Given the description of an element on the screen output the (x, y) to click on. 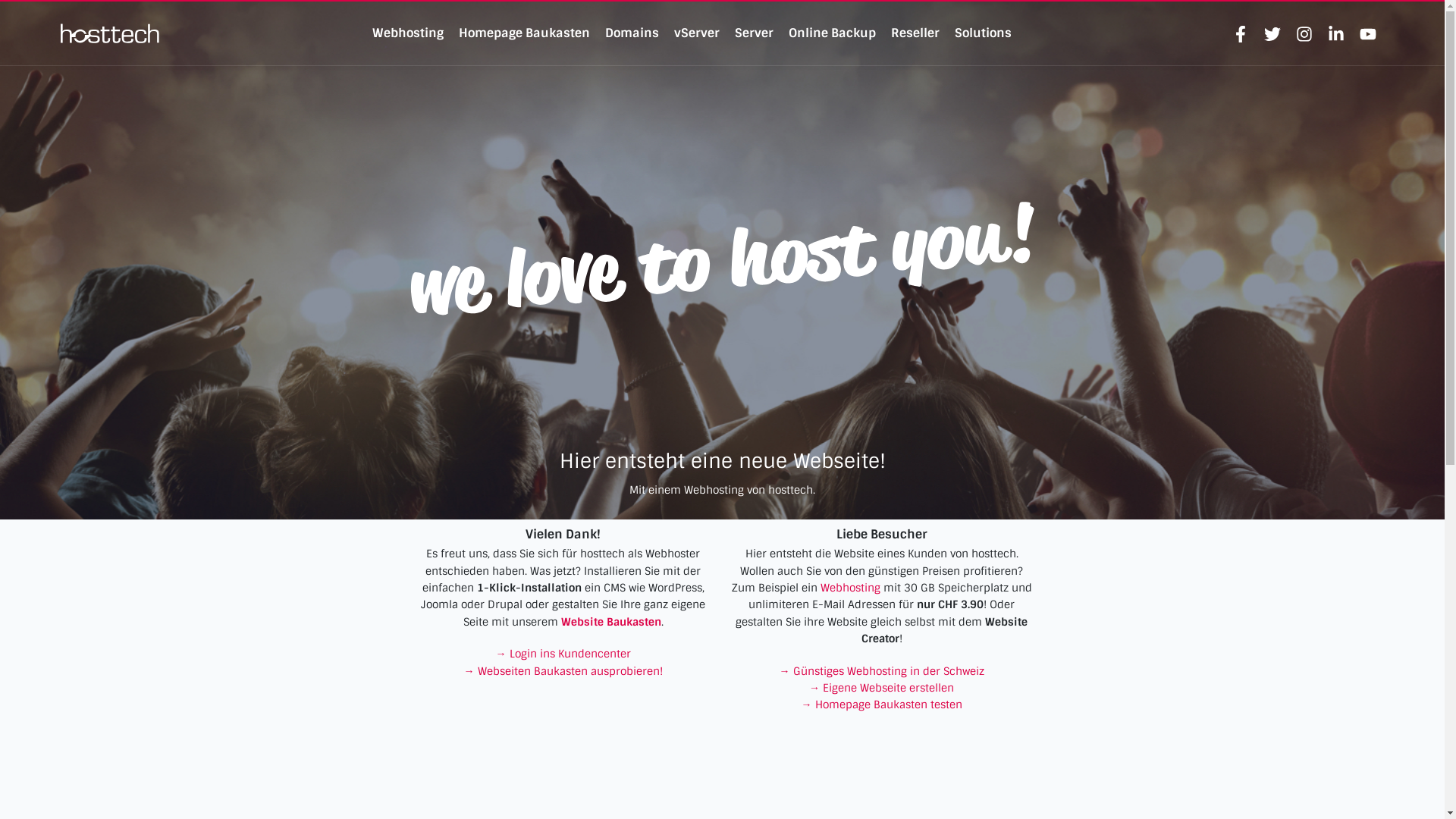
Reseller Element type: text (915, 32)
Webhosting Element type: text (407, 32)
Domains Element type: text (631, 32)
Homepage Baukasten Element type: text (523, 32)
Online Backup Element type: text (831, 32)
Website Baukasten Element type: text (611, 621)
Solutions Element type: text (982, 32)
vServer Element type: text (696, 32)
Webhosting Element type: text (850, 587)
Server Element type: text (753, 32)
